Given the description of an element on the screen output the (x, y) to click on. 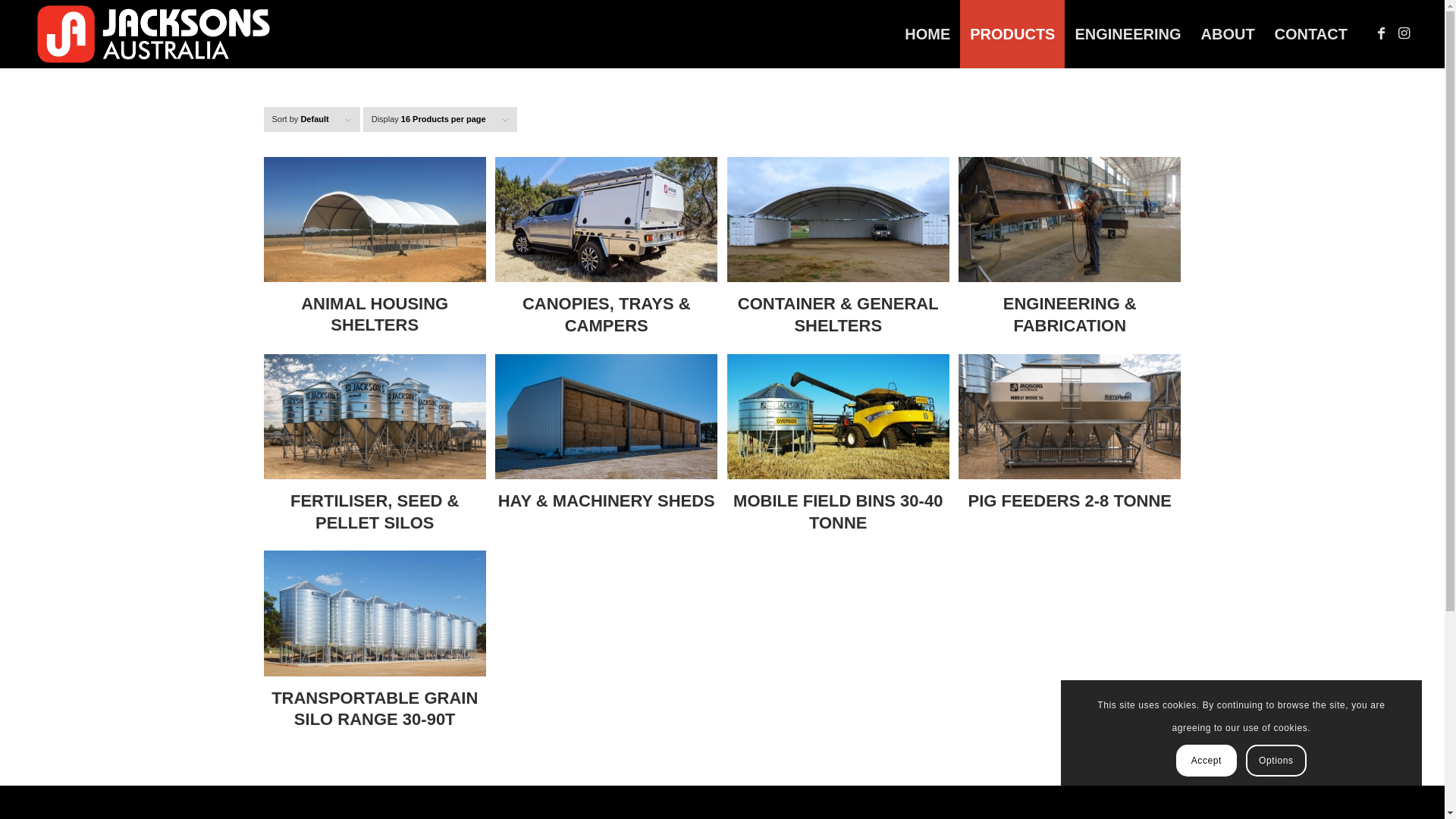
FERTILISER, SEED & PELLET SILOS Element type: text (374, 448)
HOME Element type: text (927, 34)
PIG FEEDERS 2-8 TONNE Element type: text (1069, 437)
ANIMAL HOUSING SHELTERS Element type: text (374, 250)
CANOPIES, TRAYS & CAMPERS Element type: text (606, 250)
TRANSPORTABLE GRAIN SILO RANGE 30-90T Element type: text (374, 644)
Facebook Element type: hover (1381, 32)
ENGINEERING & FABRICATION Element type: text (1069, 250)
Options Element type: text (1275, 760)
Accept Element type: text (1206, 760)
ABOUT Element type: text (1227, 34)
CONTAINER & GENERAL SHELTERS Element type: text (838, 250)
MOBILE FIELD BINS 30-40 TONNE Element type: text (838, 448)
ENGINEERING Element type: text (1127, 34)
CONTACT Element type: text (1310, 34)
PRODUCTS Element type: text (1012, 34)
Jacksons Australia Logo white Element type: hover (154, 34)
Instagram Element type: hover (1404, 32)
HAY & MACHINERY SHEDS Element type: text (606, 437)
